Given the description of an element on the screen output the (x, y) to click on. 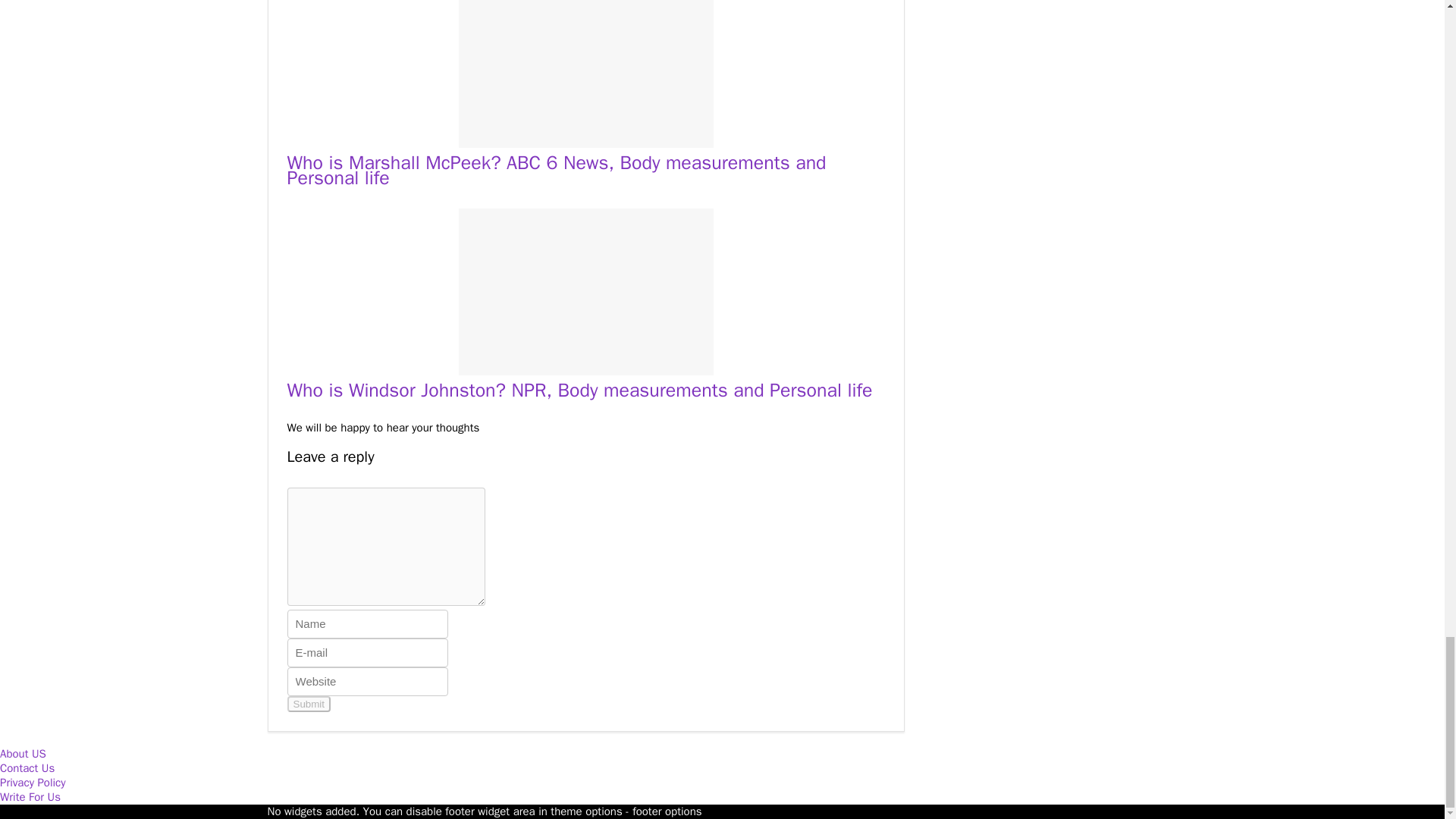
Submit (308, 703)
Submit (308, 703)
